Given the description of an element on the screen output the (x, y) to click on. 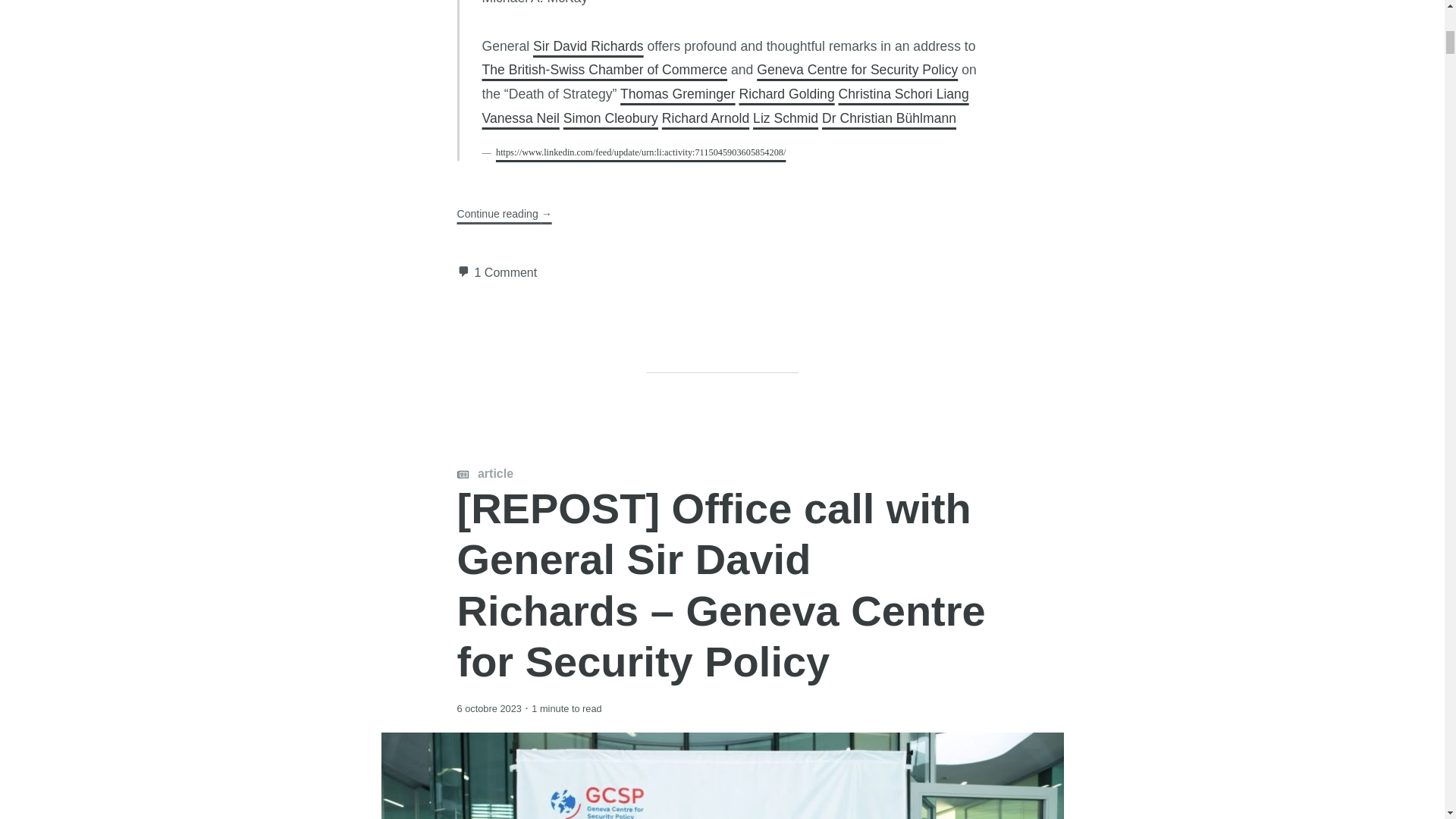
Thomas Greminger (677, 93)
Sir David Richards (587, 46)
Geneva Centre for Security Policy (857, 69)
The British-Swiss Chamber of Commerce (604, 69)
Vanessa Neil (520, 118)
Christina Schori Liang (903, 93)
Richard Golding (786, 93)
